Given the description of an element on the screen output the (x, y) to click on. 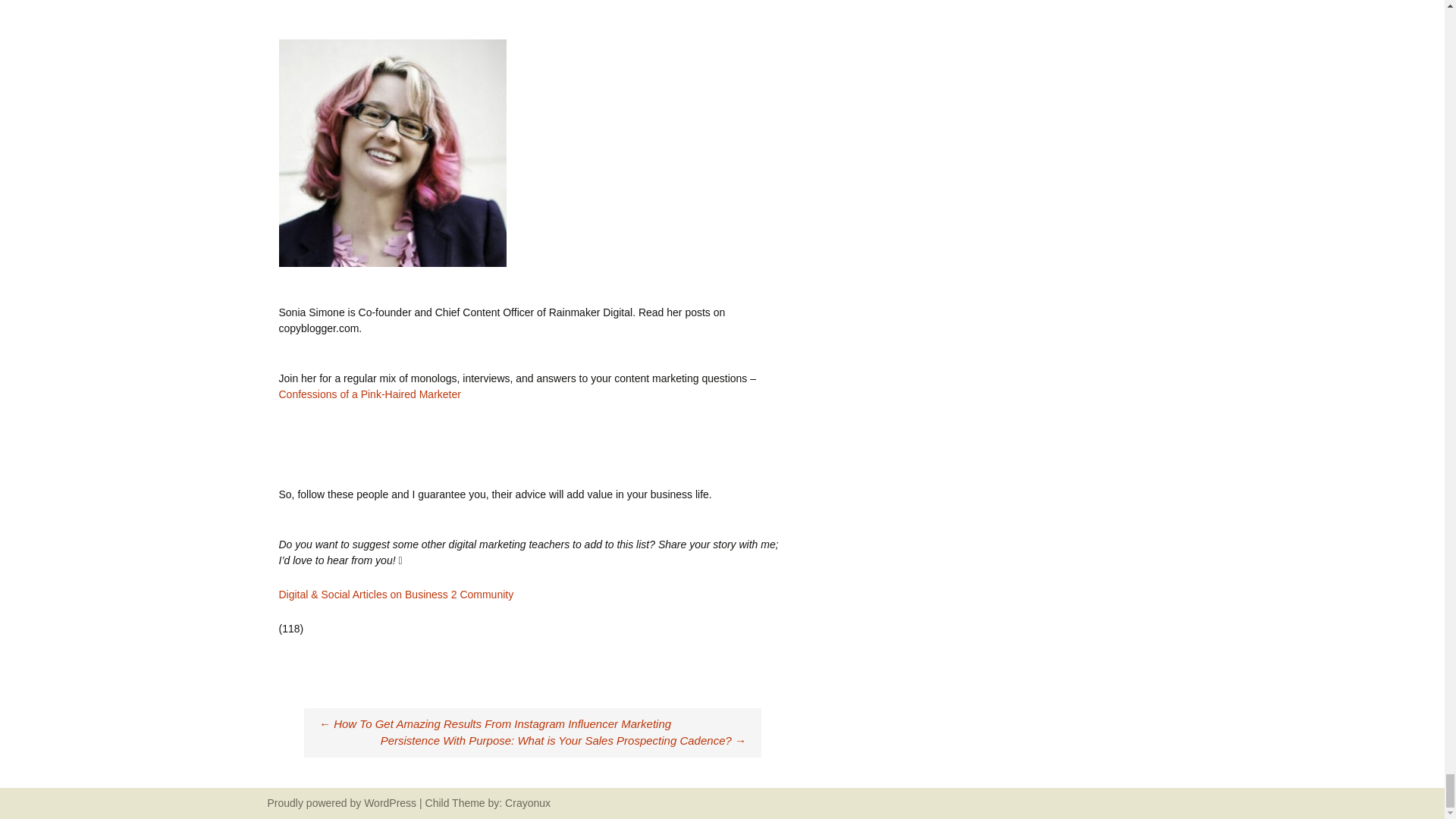
Semantic Personal Publishing Platform (390, 802)
